Given the description of an element on the screen output the (x, y) to click on. 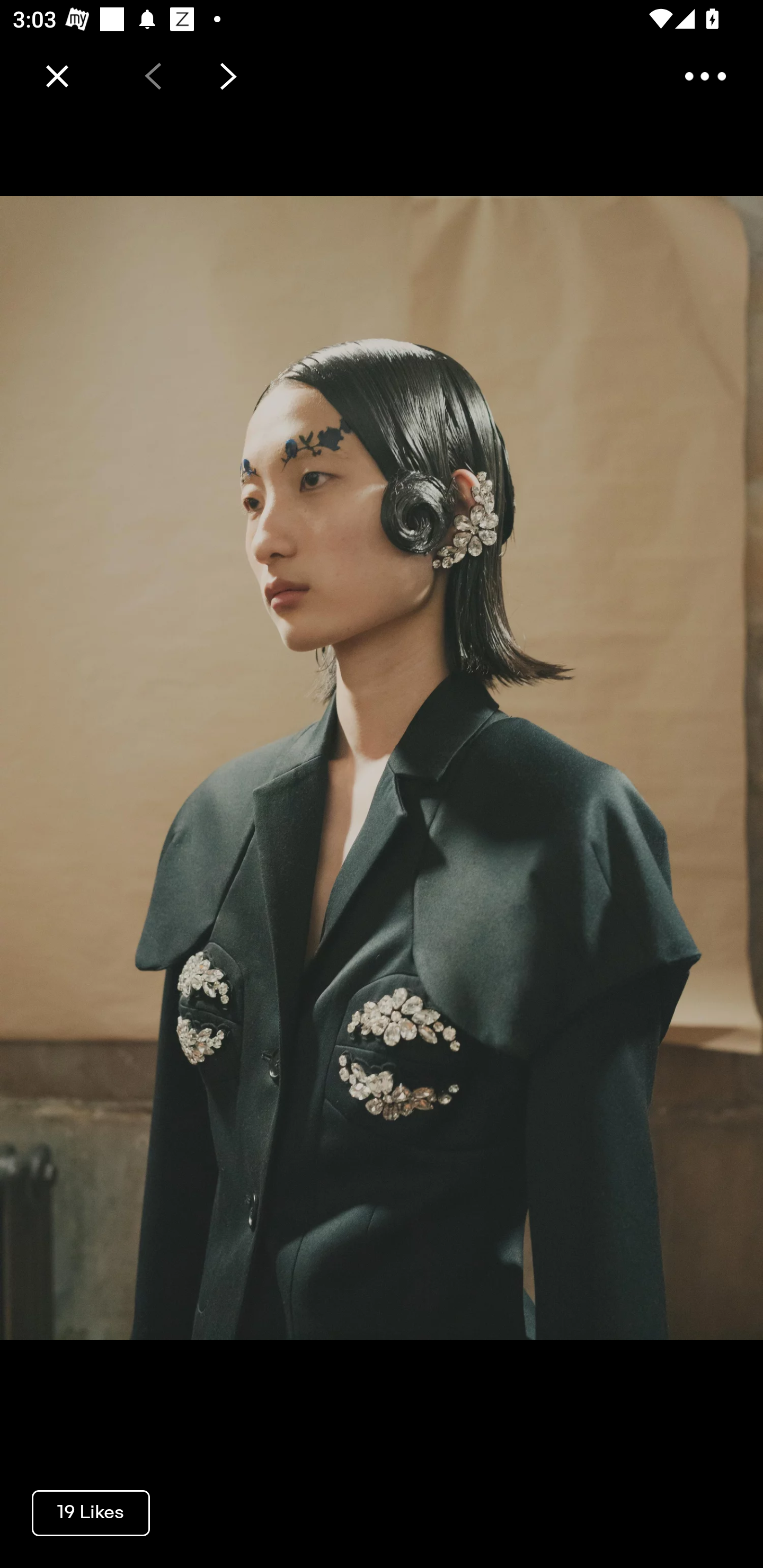
19 Likes (91, 1512)
